Given the description of an element on the screen output the (x, y) to click on. 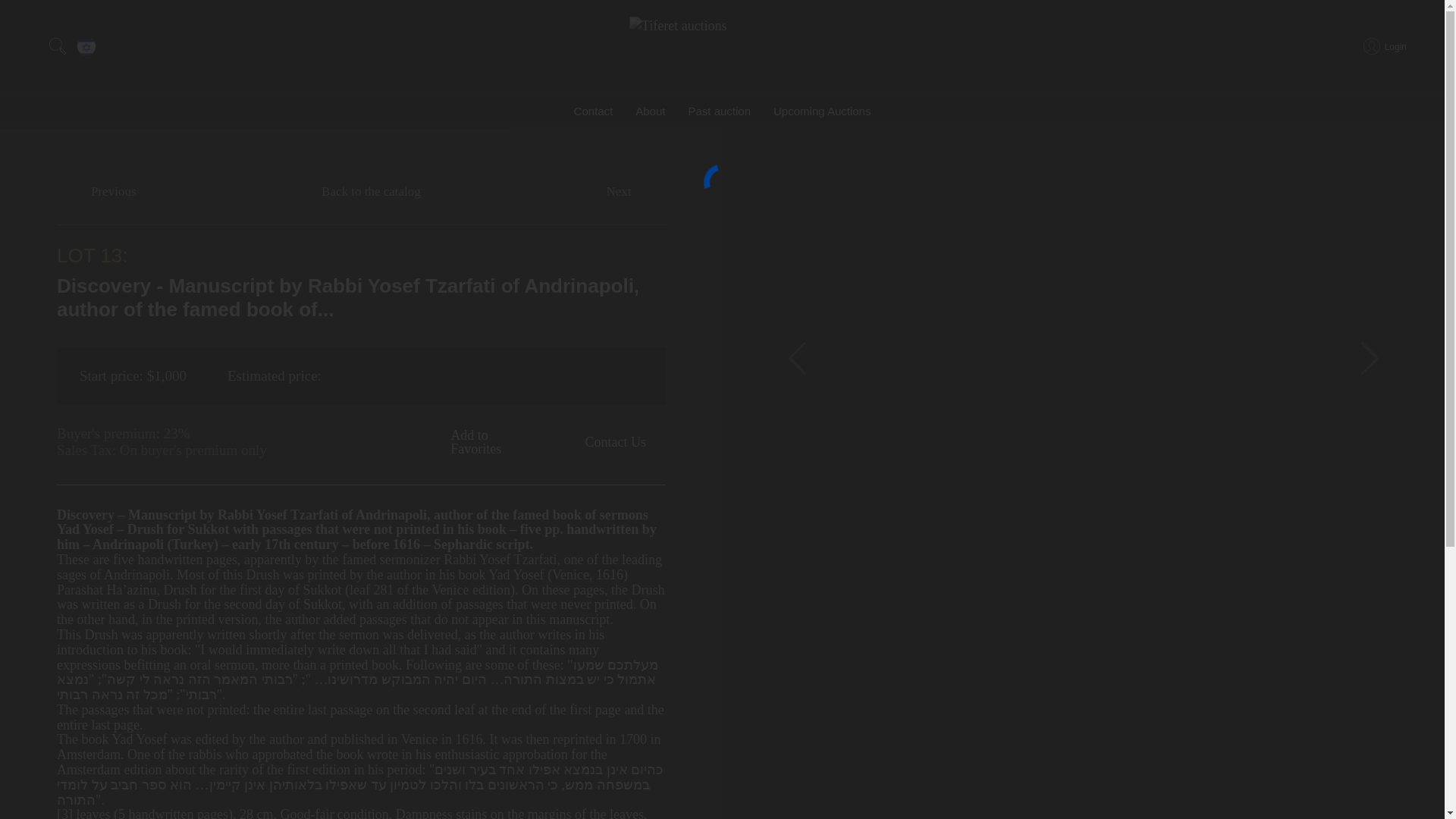
Contact Us (603, 442)
Upcoming Auctions (821, 111)
Previous (96, 191)
Past auction (719, 111)
About (650, 111)
Back to the catalog (370, 191)
Contact (593, 111)
Next (635, 191)
Login (1382, 45)
